Given the description of an element on the screen output the (x, y) to click on. 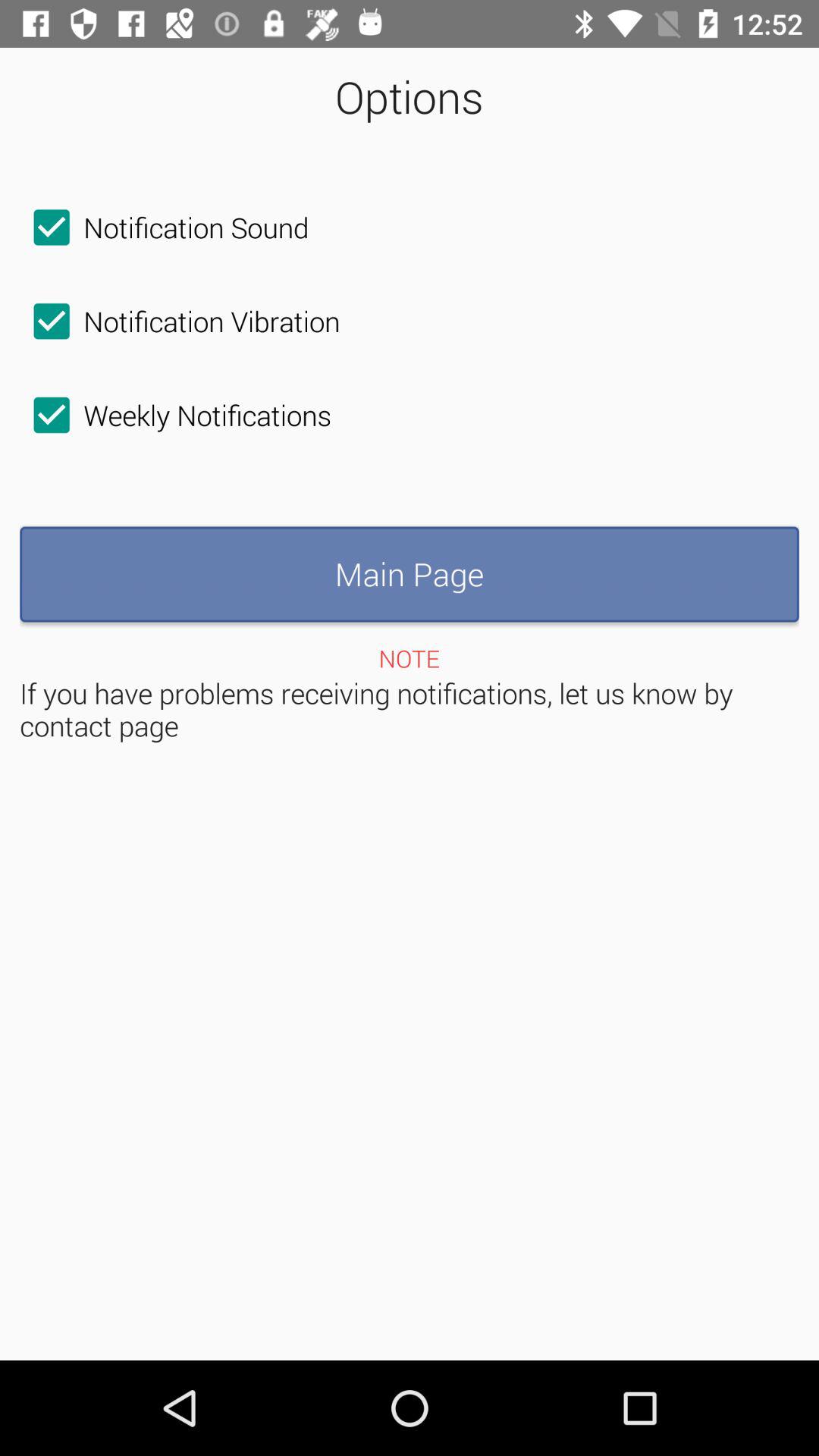
press the notification vibration item (179, 321)
